Given the description of an element on the screen output the (x, y) to click on. 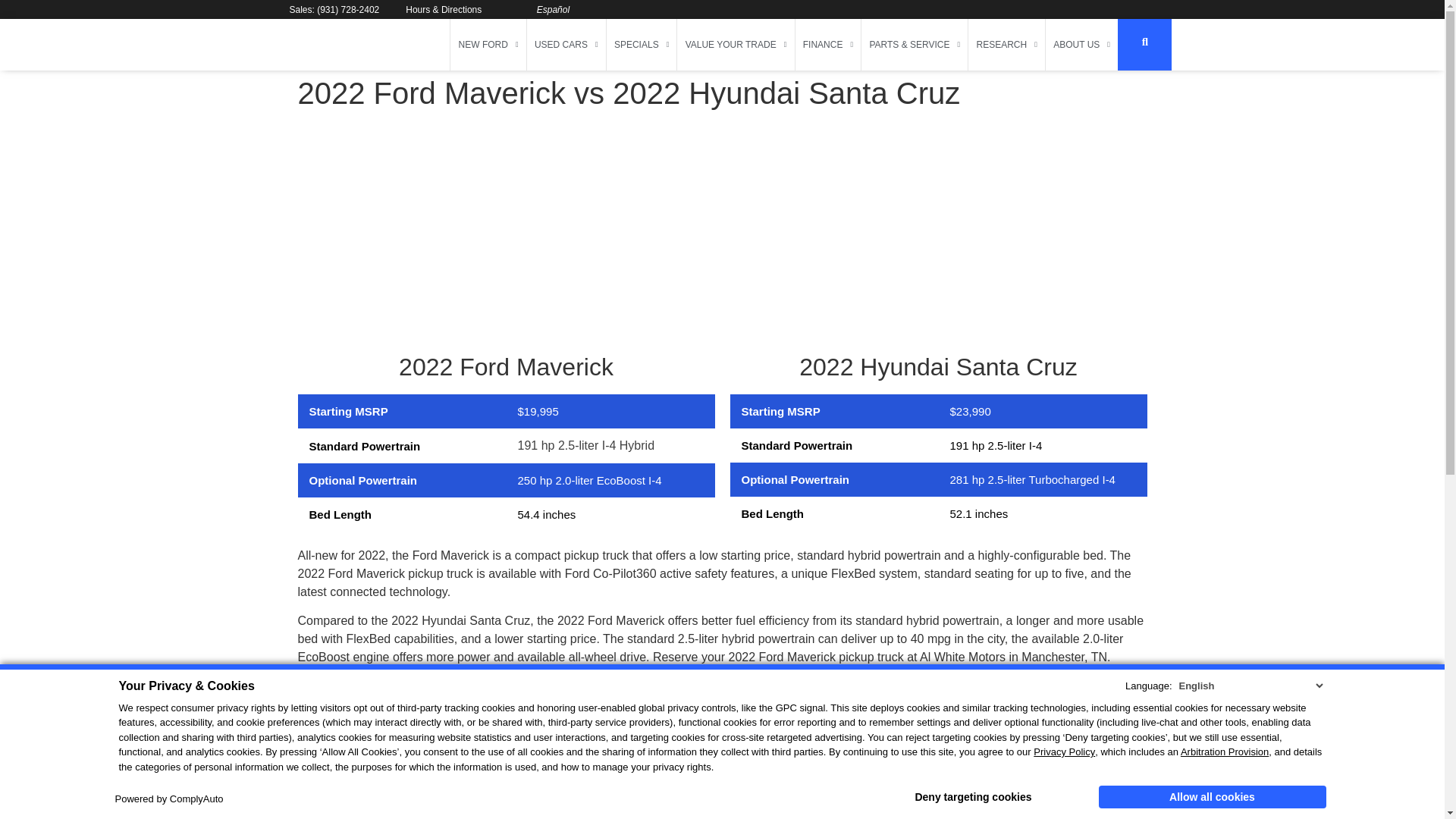
NEW FORD (487, 44)
SPECIALS (642, 44)
USED CARS (566, 44)
